Given the description of an element on the screen output the (x, y) to click on. 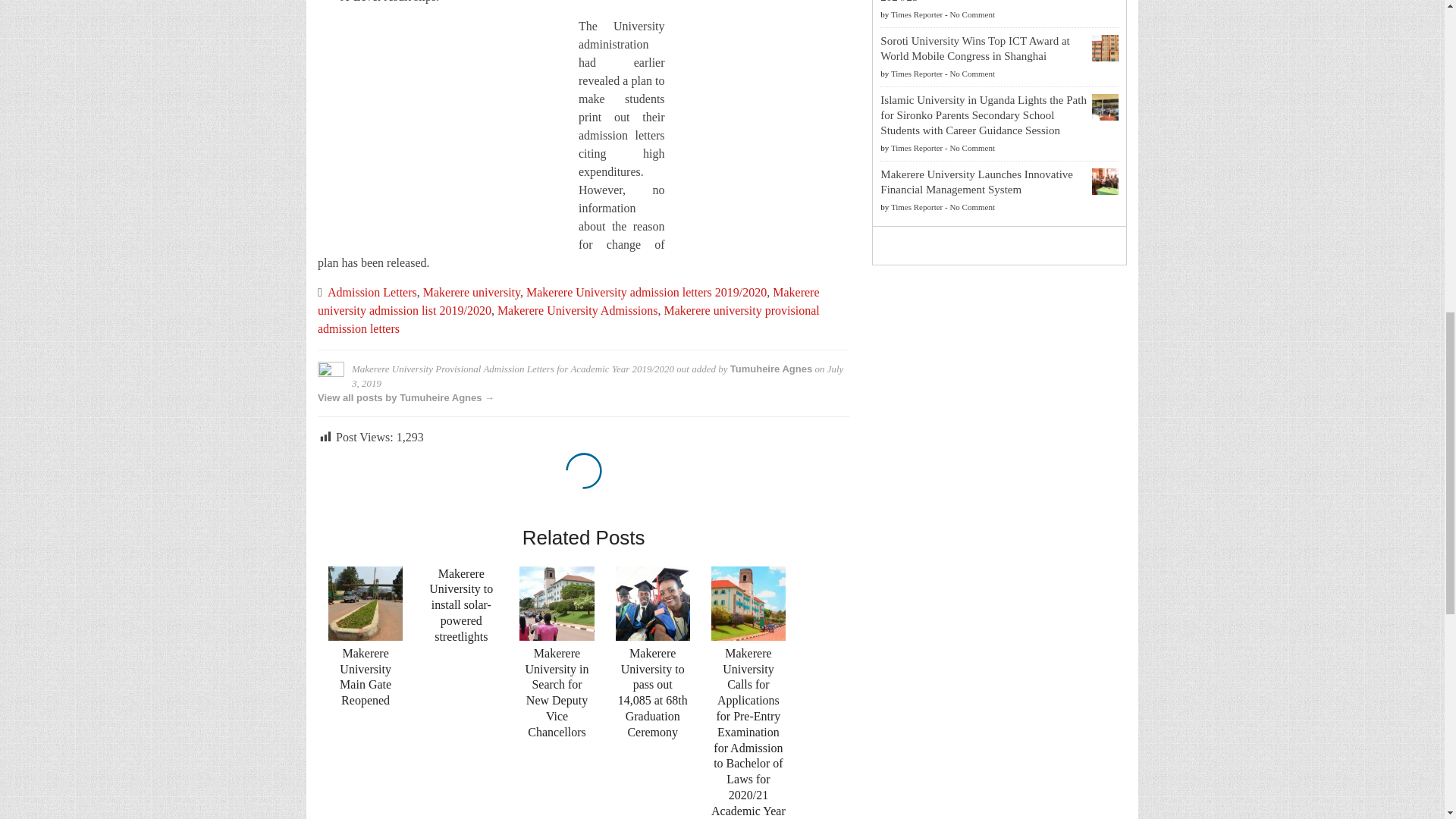
Makerere University Main Gate Reopened (366, 604)
Advertisement (444, 129)
